Given the description of an element on the screen output the (x, y) to click on. 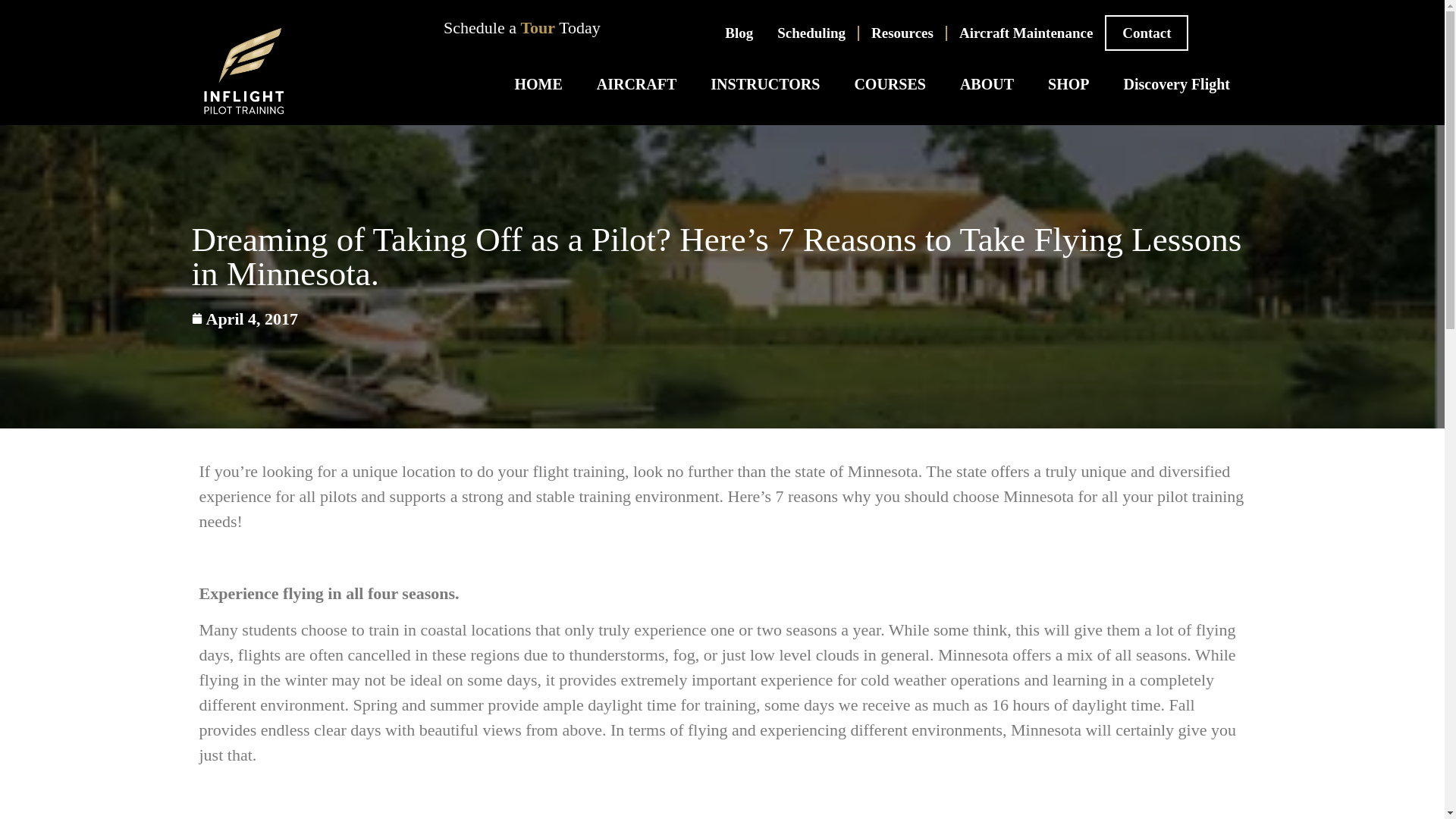
Scheduling (811, 32)
Resources (901, 32)
Tour (536, 27)
Blog (739, 32)
